Given the description of an element on the screen output the (x, y) to click on. 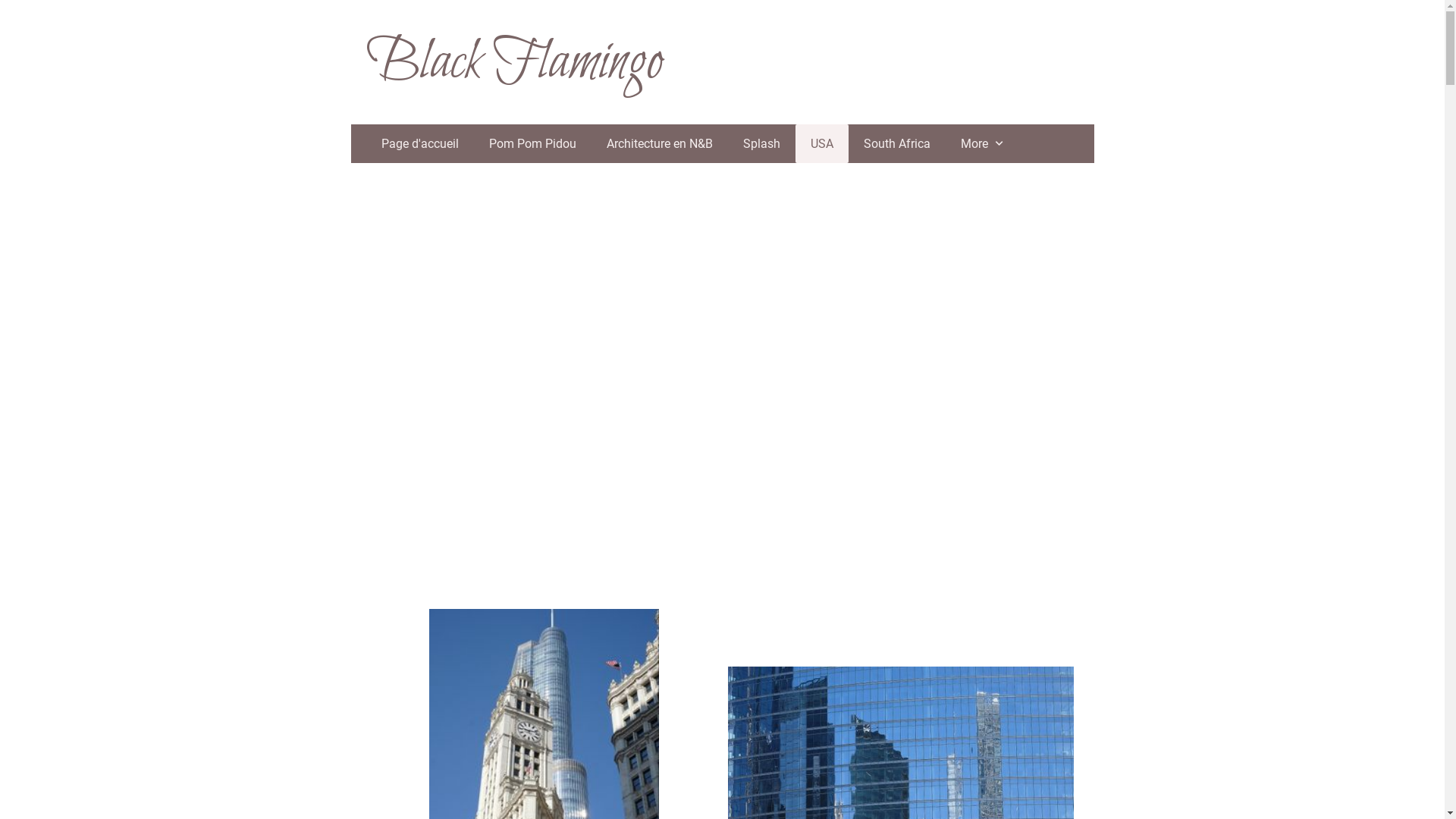
Architecture en N&B Element type: text (659, 143)
South Africa Element type: text (895, 143)
Pom Pom Pidou Element type: text (531, 143)
USA Element type: text (820, 143)
Splash Element type: text (761, 143)
Page d'accueil Element type: text (419, 143)
Black Flamingo Element type: text (513, 64)
More Element type: text (982, 143)
